Given the description of an element on the screen output the (x, y) to click on. 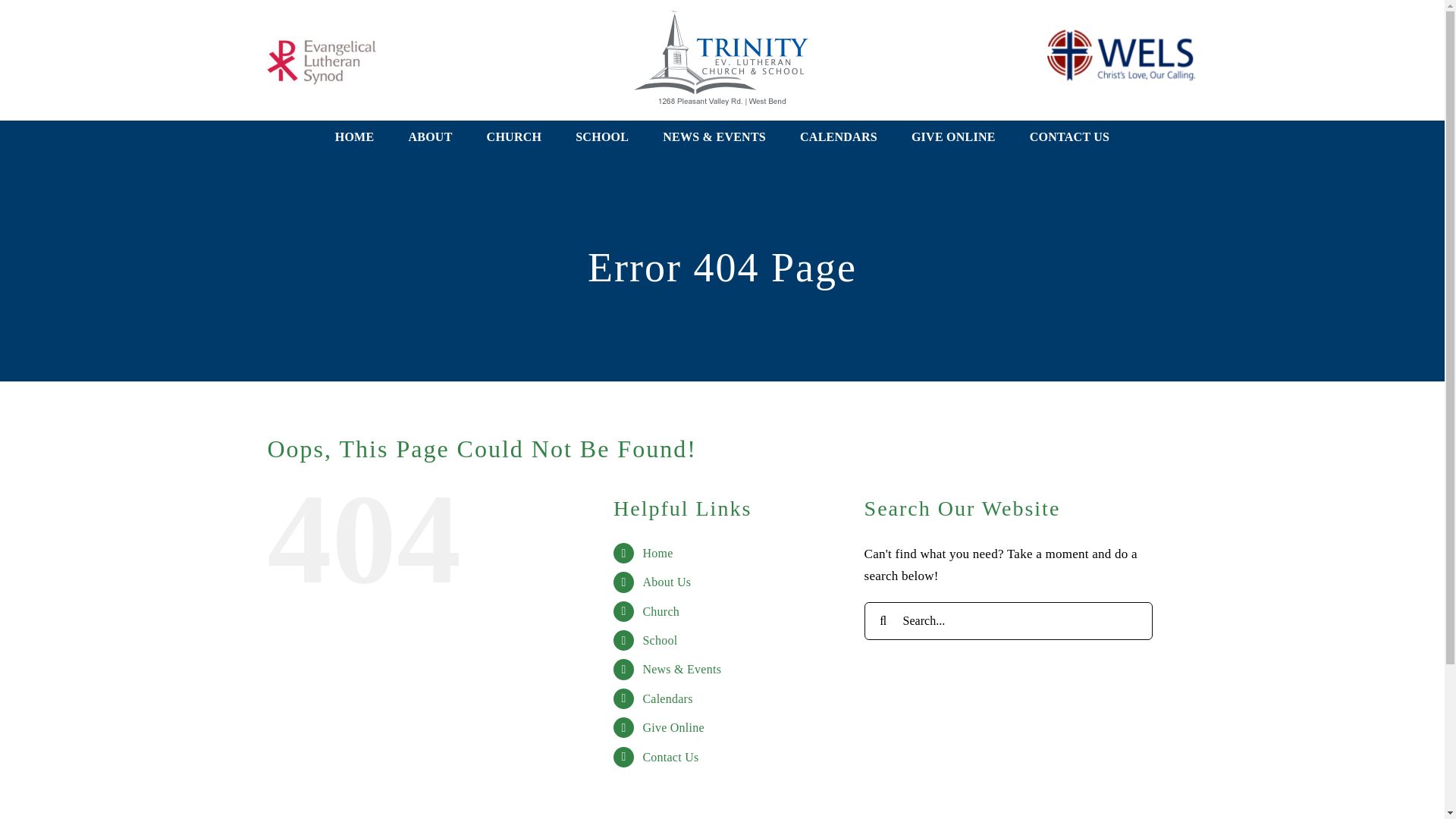
CONTACT US (1069, 137)
SCHOOL (601, 137)
WELSnet-Logo-2021 (1120, 55)
CHURCH (513, 137)
GIVE ONLINE (953, 137)
CALENDARS (838, 137)
HOME (354, 137)
ABOUT (429, 137)
